Given the description of an element on the screen output the (x, y) to click on. 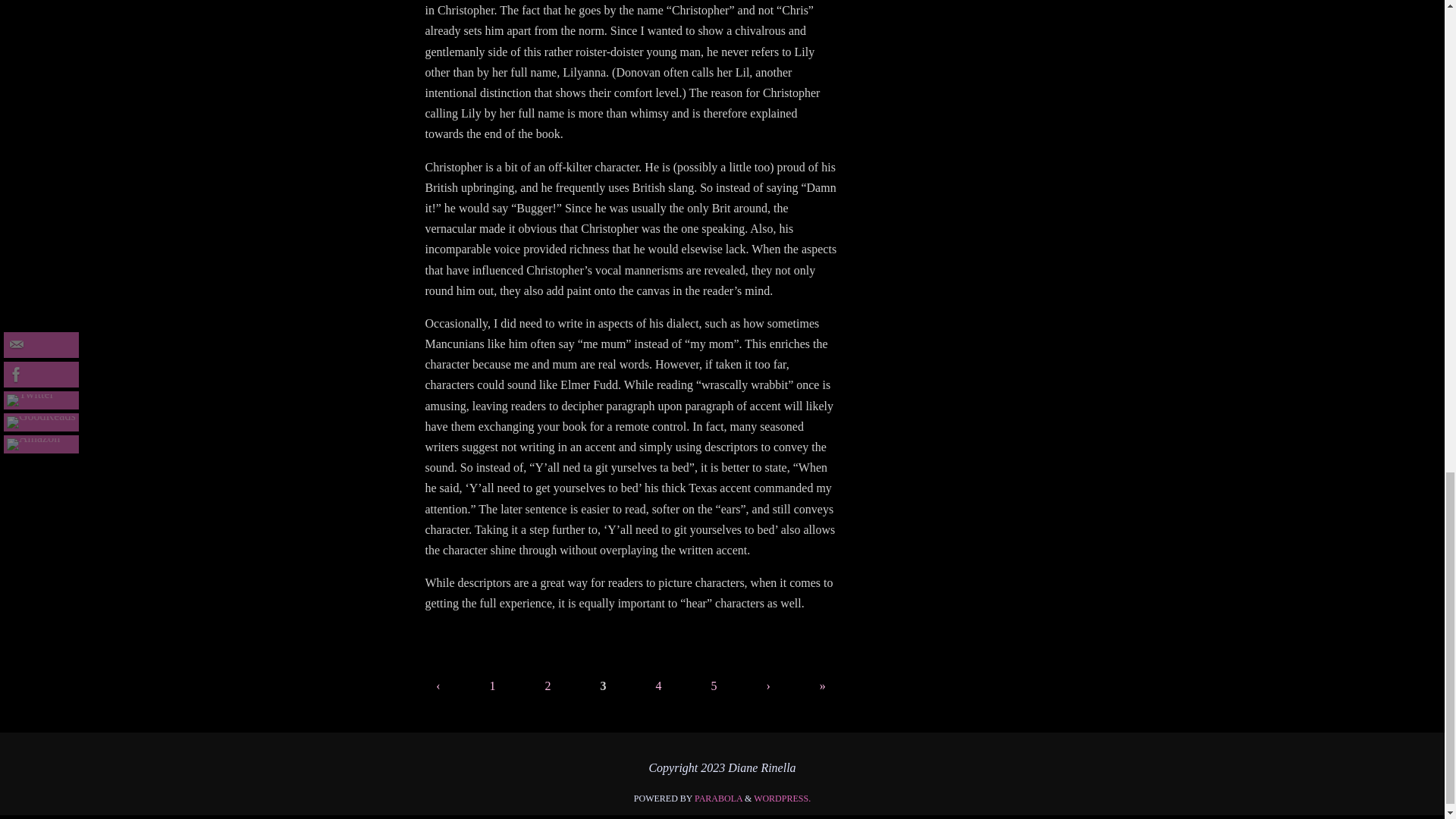
2 (547, 685)
PARABOLA (718, 798)
Parabola Theme by Cryout Creations (718, 798)
5 (714, 685)
1 (492, 685)
4 (657, 685)
Semantic Personal Publishing Platform (782, 798)
